Given the description of an element on the screen output the (x, y) to click on. 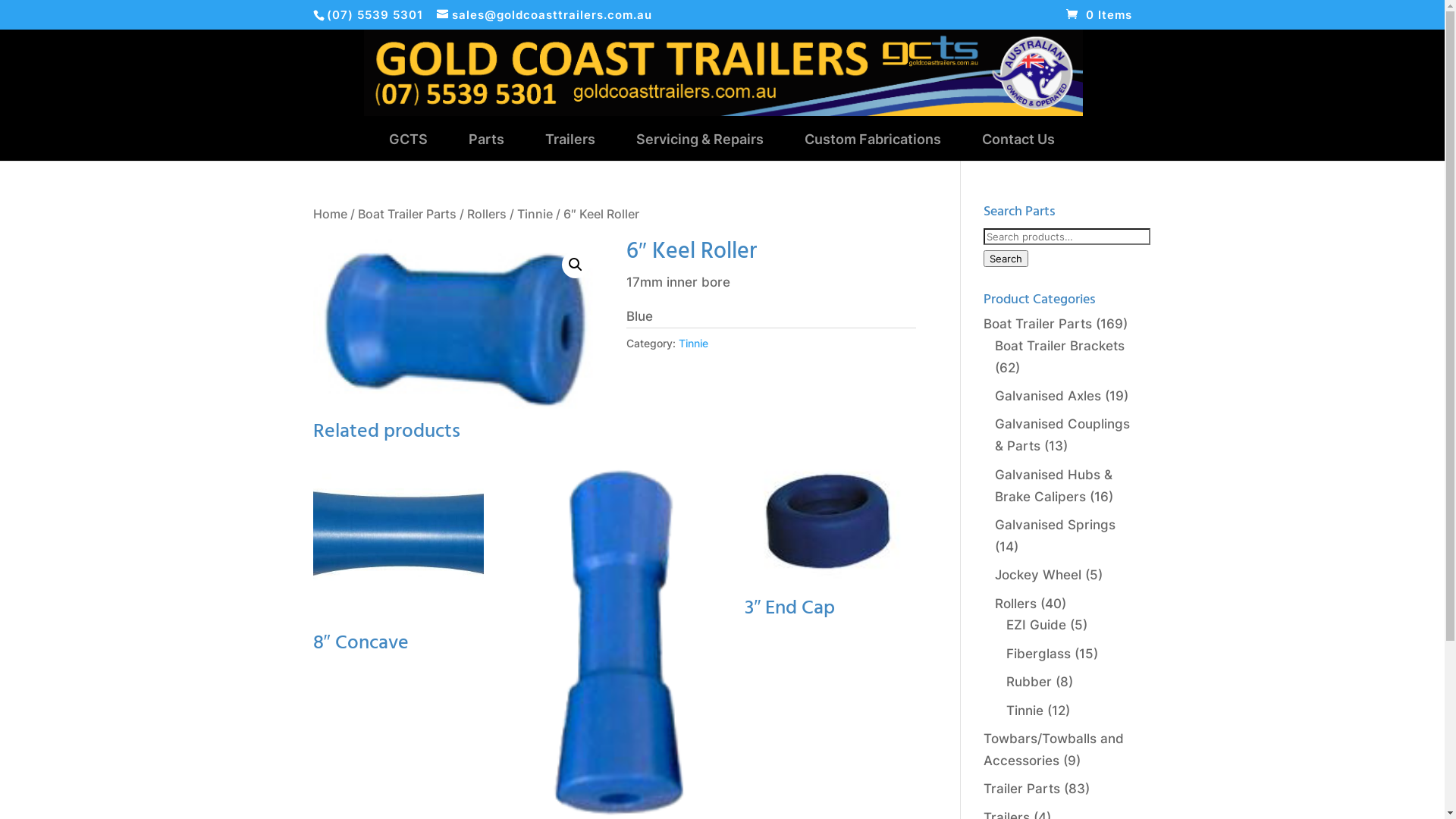
Tinnie Element type: text (1024, 710)
Tinnie Element type: text (693, 342)
EZI Guide Element type: text (1036, 624)
Rubber Element type: text (1028, 681)
Trailers Element type: text (569, 146)
Jockey Wheel Element type: text (1037, 574)
Galvanised Couplings & Parts Element type: text (1061, 434)
Boat Trailer Brackets Element type: text (1059, 345)
sales@goldcoasttrailers.com.au Element type: text (544, 14)
Rollers Element type: text (486, 214)
Fiberglass Element type: text (1038, 653)
Parts Element type: text (486, 146)
Galvanised Springs Element type: text (1054, 524)
Rollers Element type: text (1015, 603)
4.5-Blue-2.jpg Element type: hover (457, 329)
Galvanised Hubs & Brake Calipers Element type: text (1053, 485)
Tinnie Element type: text (534, 214)
Towbars/Towballs and Accessories Element type: text (1053, 749)
Contact Us Element type: text (1017, 146)
0 Items Element type: text (1099, 14)
GCTS Element type: text (407, 146)
Search Element type: text (1005, 258)
Boat Trailer Parts Element type: text (406, 214)
Trailer Parts Element type: text (1021, 788)
Custom Fabrications Element type: text (871, 146)
Boat Trailer Parts Element type: text (1037, 323)
Galvanised Axles Element type: text (1047, 395)
Home Element type: text (329, 214)
Servicing & Repairs Element type: text (698, 146)
